Given the description of an element on the screen output the (x, y) to click on. 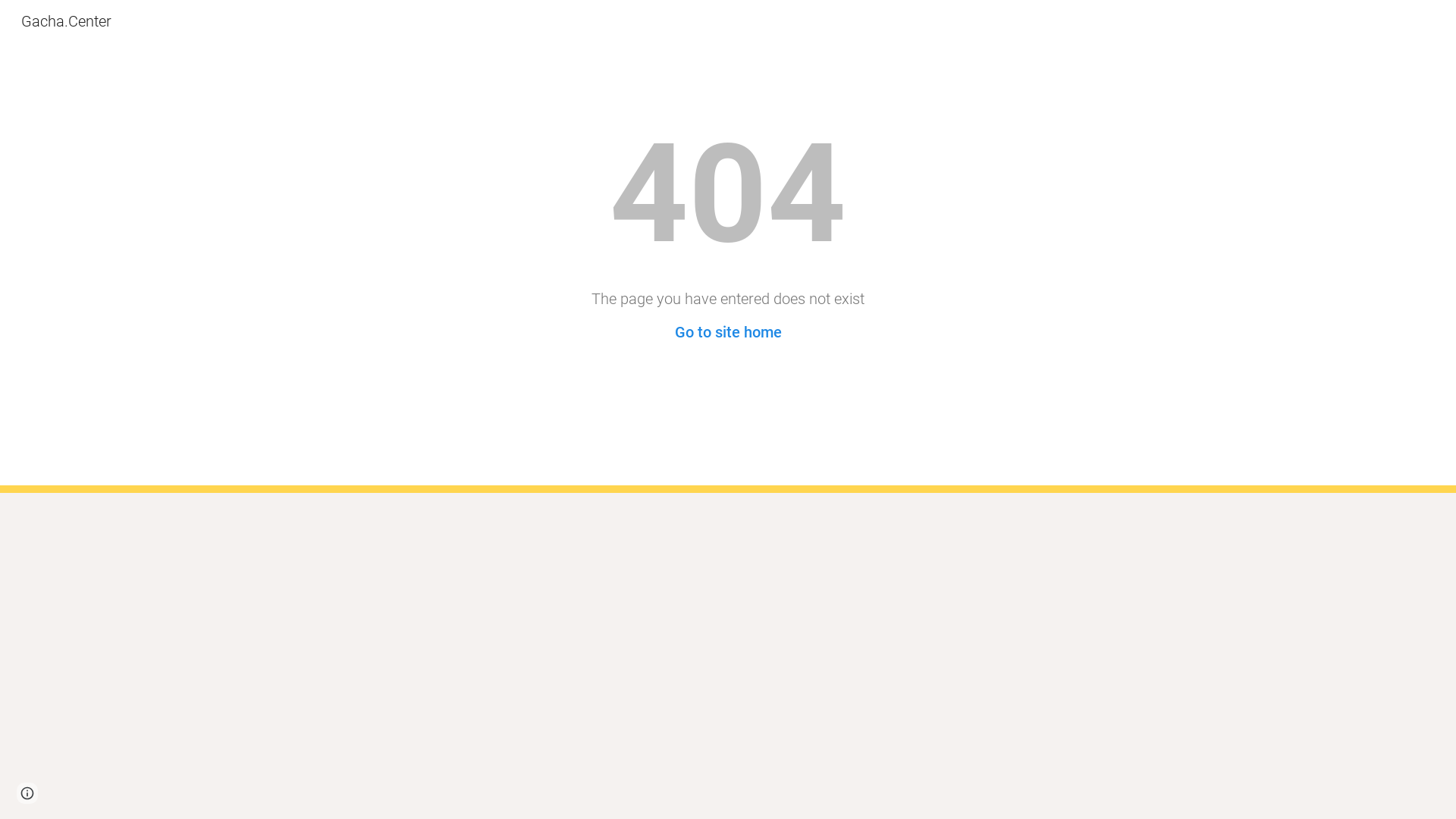
Go to site home Element type: text (727, 332)
Gacha.Center Element type: text (66, 19)
